Given the description of an element on the screen output the (x, y) to click on. 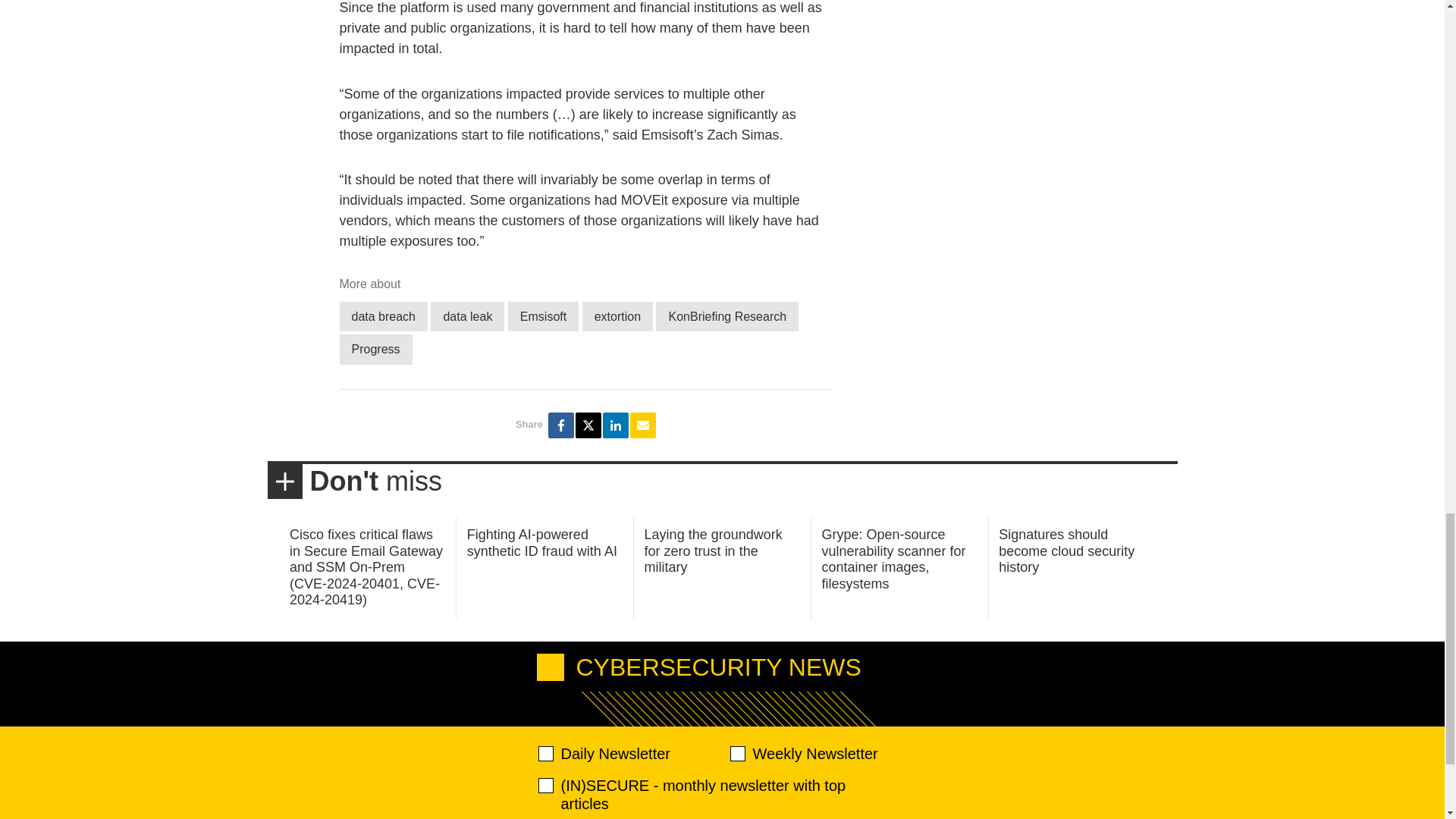
Emsisoft (543, 316)
KonBriefing Research (726, 316)
data breach (383, 316)
KonBriefing Research (726, 316)
data leak (466, 316)
Progress (375, 348)
28abe5d9ef (545, 785)
data leak (466, 316)
Emsisoft (543, 316)
Progress (375, 348)
extortion (617, 316)
extortion (617, 316)
d2d471aafa (736, 753)
520ac2f639 (545, 753)
data breach (383, 316)
